Given the description of an element on the screen output the (x, y) to click on. 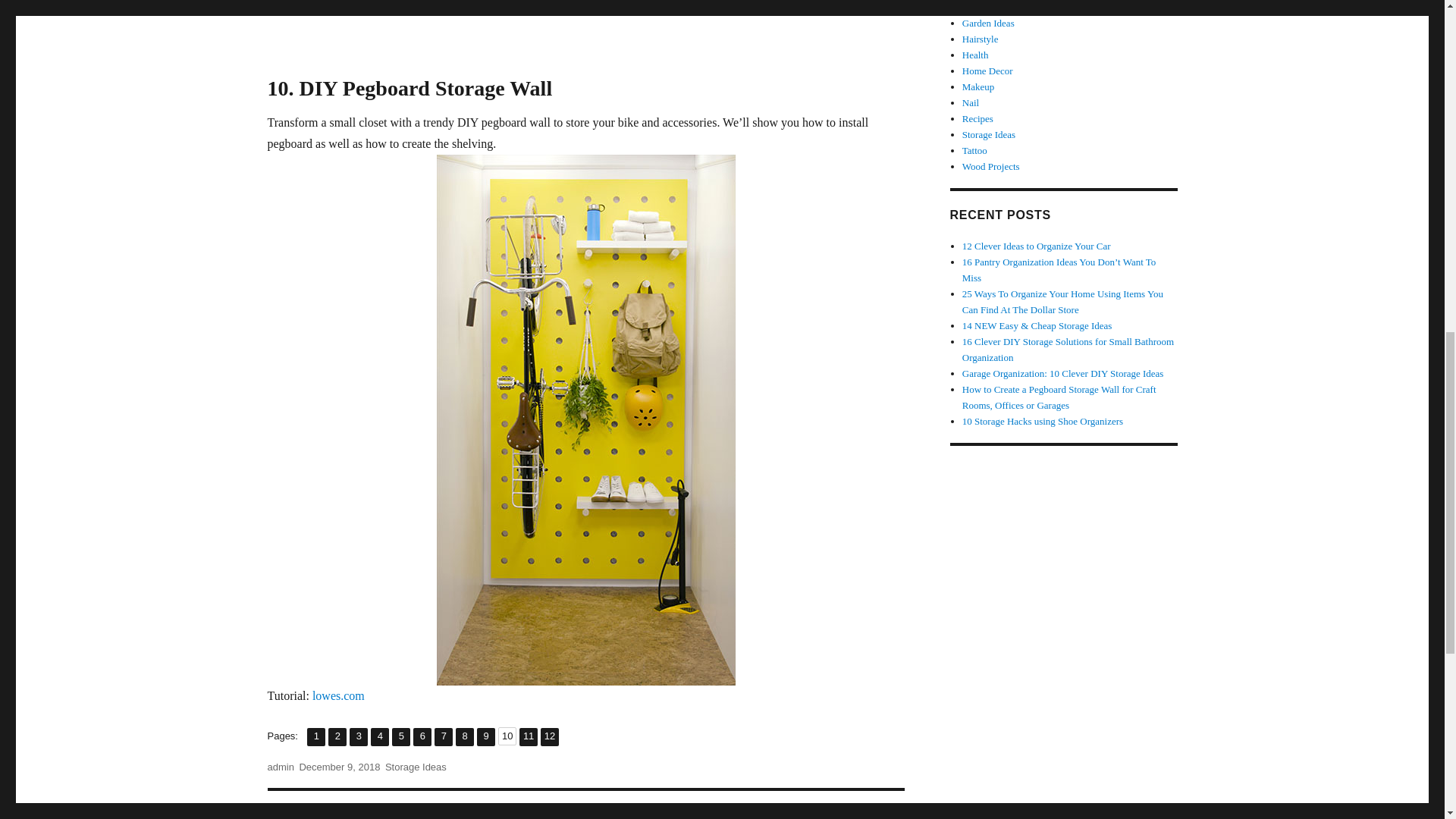
Makeup (315, 737)
Wood Projects (464, 737)
Home Decor (978, 86)
Tattoo (991, 165)
Nail (987, 70)
Advertisement (974, 150)
Garden Ideas (421, 737)
Hairstyle (970, 102)
Garage Organization: 10 Clever DIY Storage Ideas (585, 32)
December 9, 2018 (988, 22)
